Given the description of an element on the screen output the (x, y) to click on. 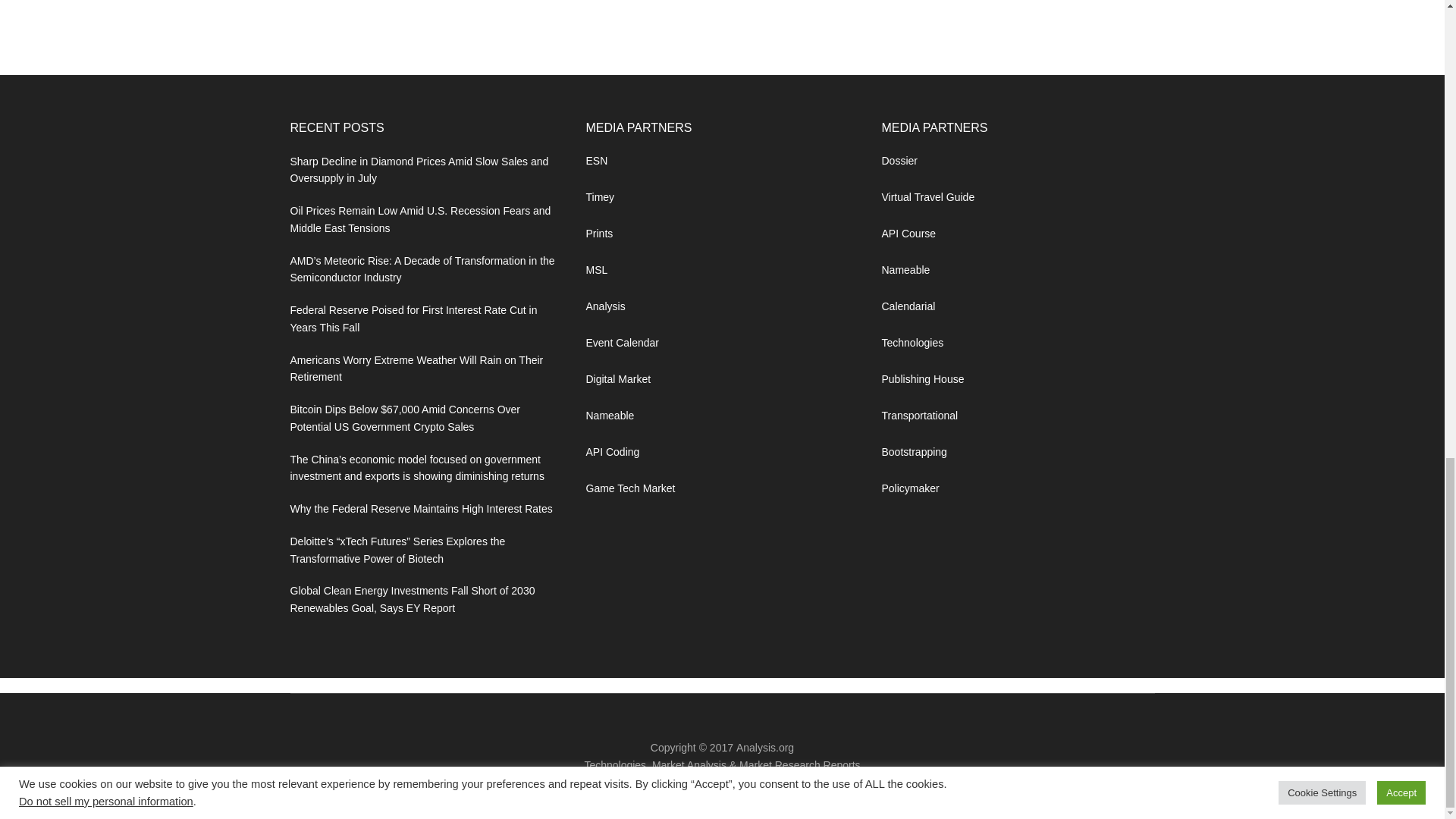
Prints (598, 233)
Nameable (609, 415)
Event Calendar (622, 342)
MSL (596, 269)
MSL (596, 269)
Timey (599, 196)
Timey (599, 196)
Nameable (609, 415)
